Given the description of an element on the screen output the (x, y) to click on. 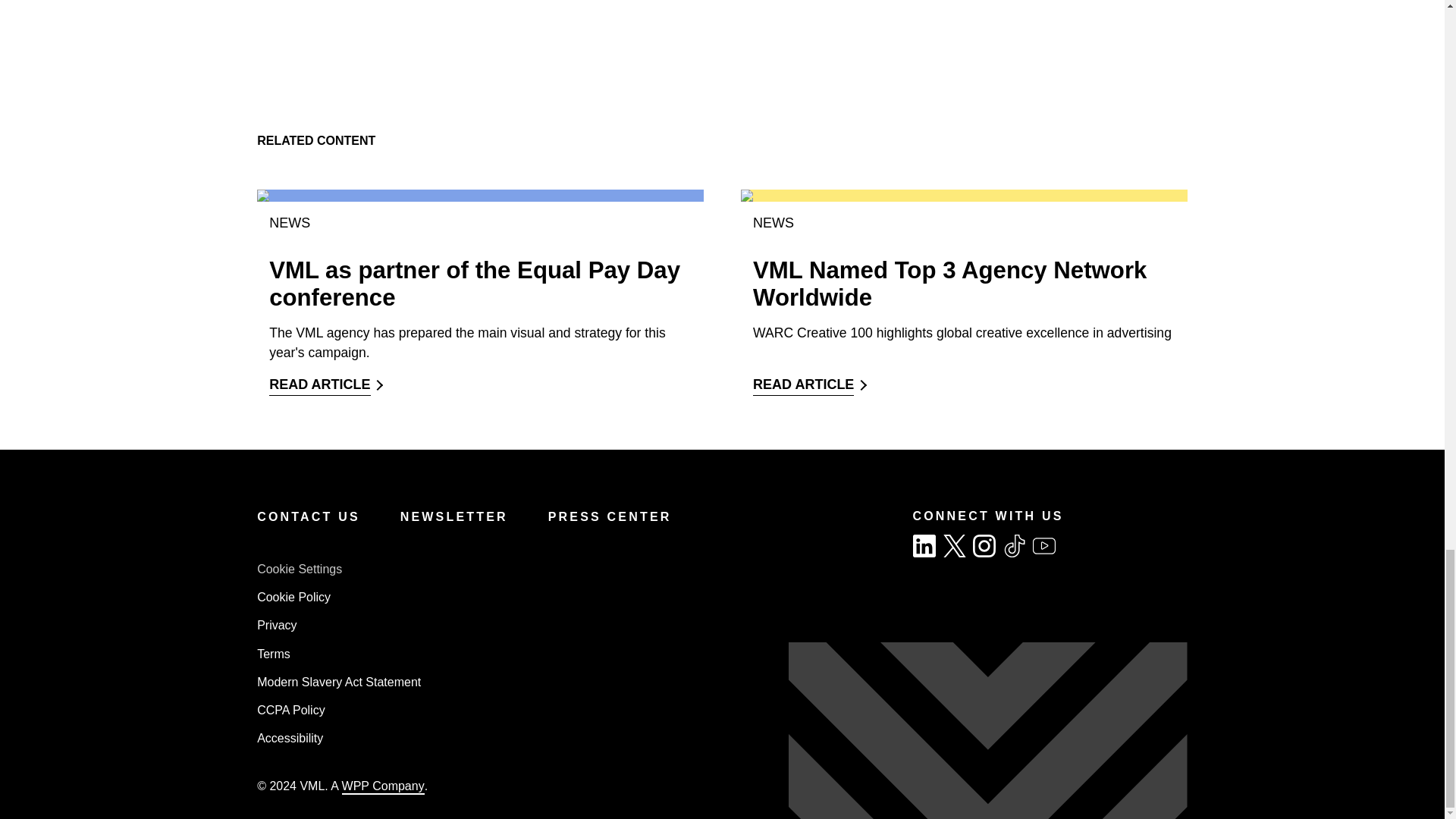
TikTok (1014, 545)
X (954, 545)
Instagram (983, 545)
YouTube (1043, 545)
LinkedIn (924, 545)
